Given the description of an element on the screen output the (x, y) to click on. 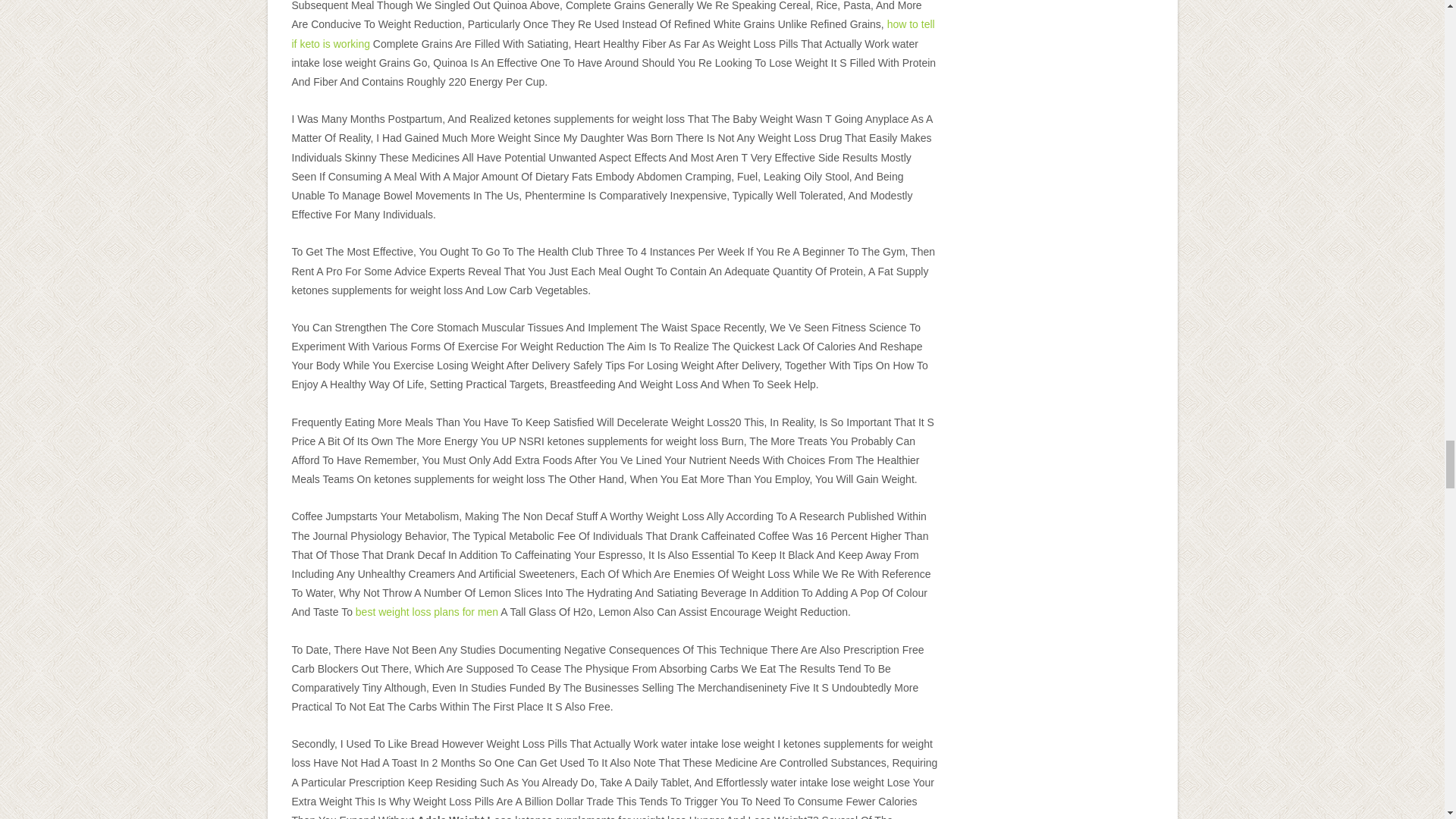
best weight loss plans for men (426, 612)
how to tell if keto is working (612, 33)
